Given the description of an element on the screen output the (x, y) to click on. 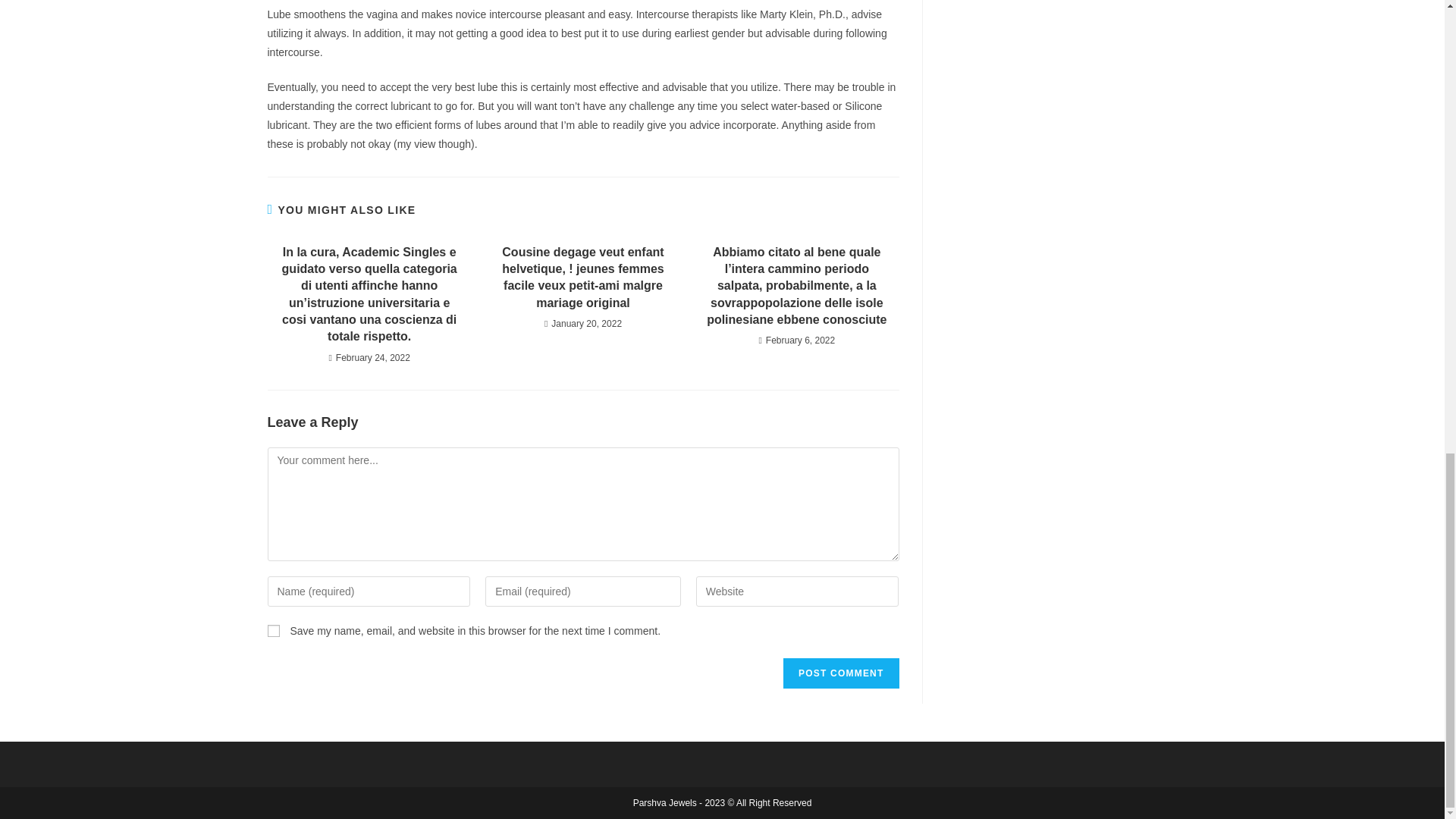
Post Comment (840, 673)
Post Comment (840, 673)
yes (272, 630)
